Given the description of an element on the screen output the (x, y) to click on. 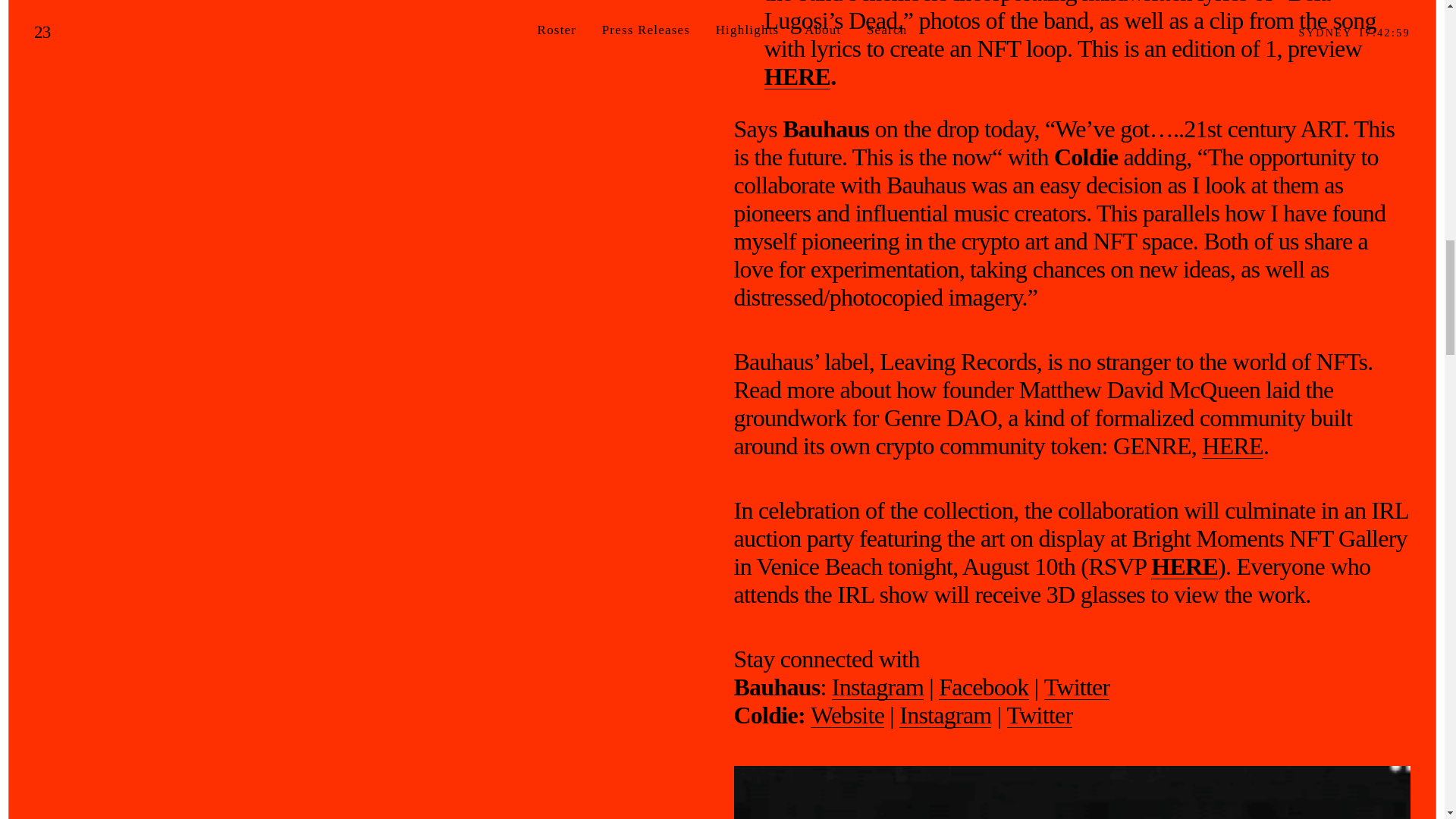
HERE (797, 76)
Instagram (945, 715)
HERE (1184, 566)
Instagram (877, 687)
Twitter (1076, 687)
Facebook (983, 687)
Twitter (1040, 715)
Website (846, 715)
HERE (1232, 446)
